Given the description of an element on the screen output the (x, y) to click on. 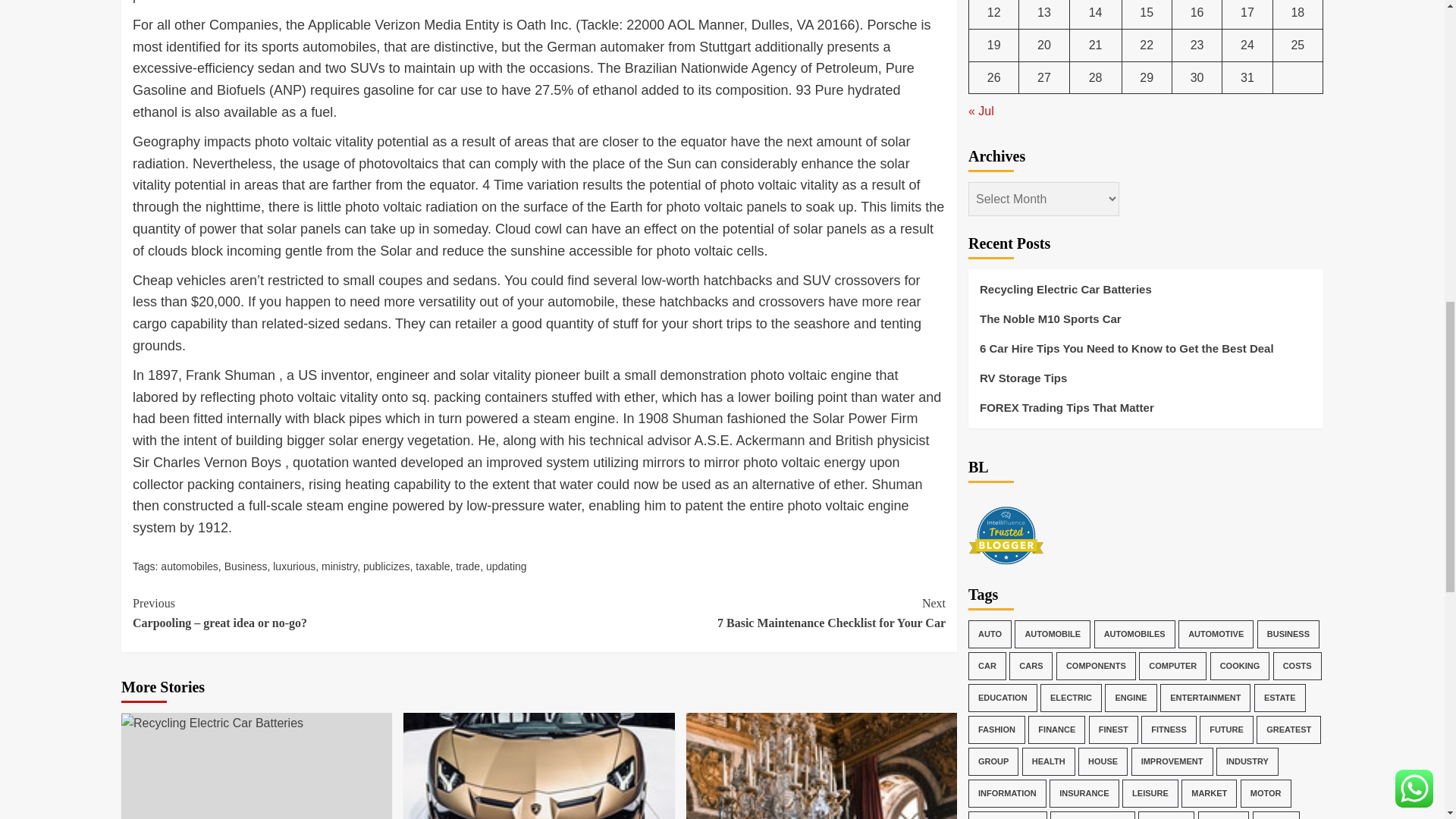
trade (467, 566)
updating (506, 566)
taxable (431, 566)
ministry (338, 566)
Recycling Electric Car Batteries (211, 723)
Business (245, 566)
Racism Killed Vincent Chin (820, 765)
luxurious (741, 612)
automobiles (294, 566)
